Given the description of an element on the screen output the (x, y) to click on. 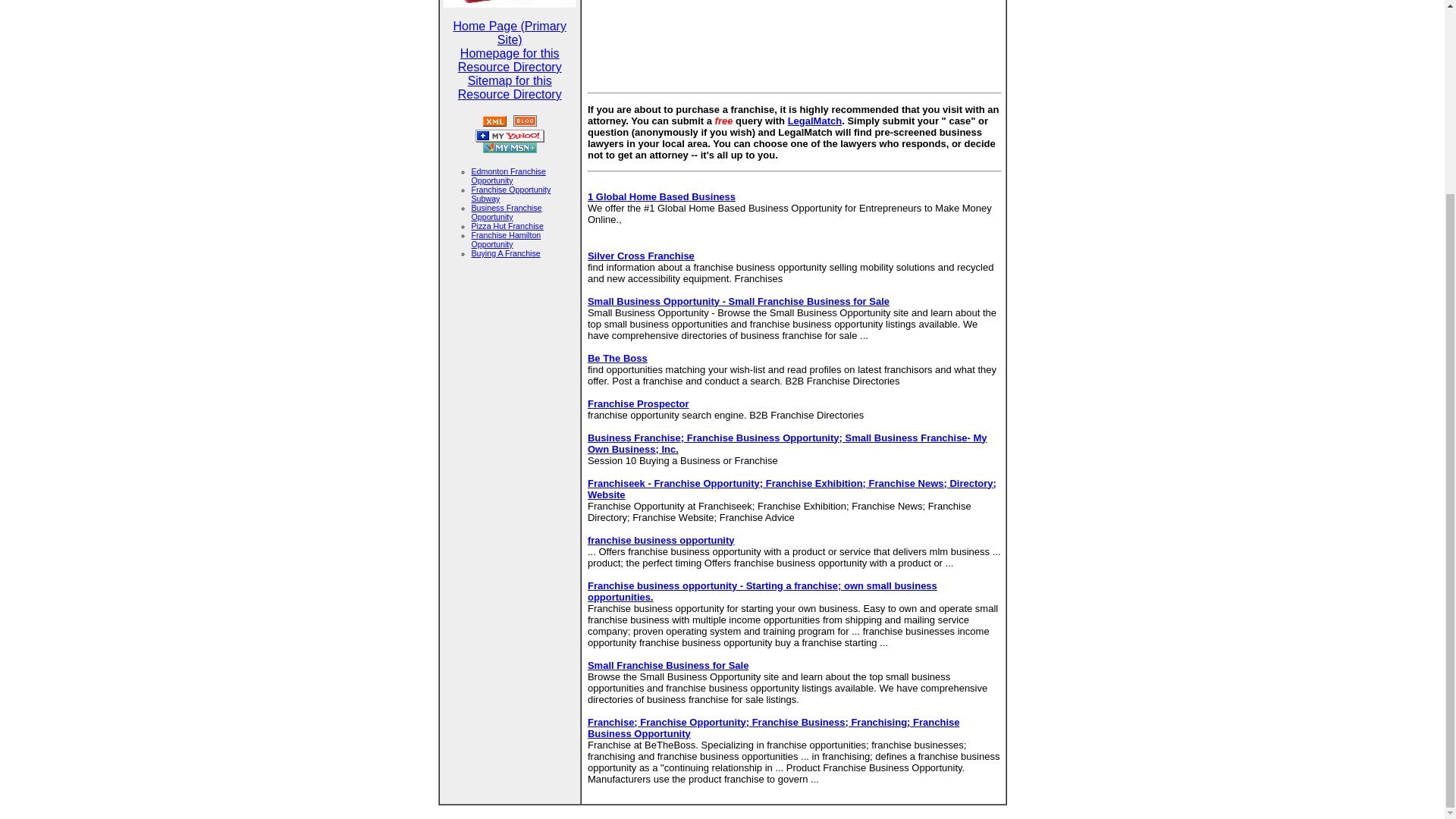
LegalMatch (815, 120)
Pizza Hut Franchise (507, 225)
Franchise Opportunity Subway (511, 194)
Homepage for this Resource Directory (510, 59)
Edmonton Franchise Opportunity (508, 176)
Silver Cross Franchise (641, 255)
Sitemap for this Resource Directory (510, 87)
Business Franchise Opportunity (506, 212)
